Given the description of an element on the screen output the (x, y) to click on. 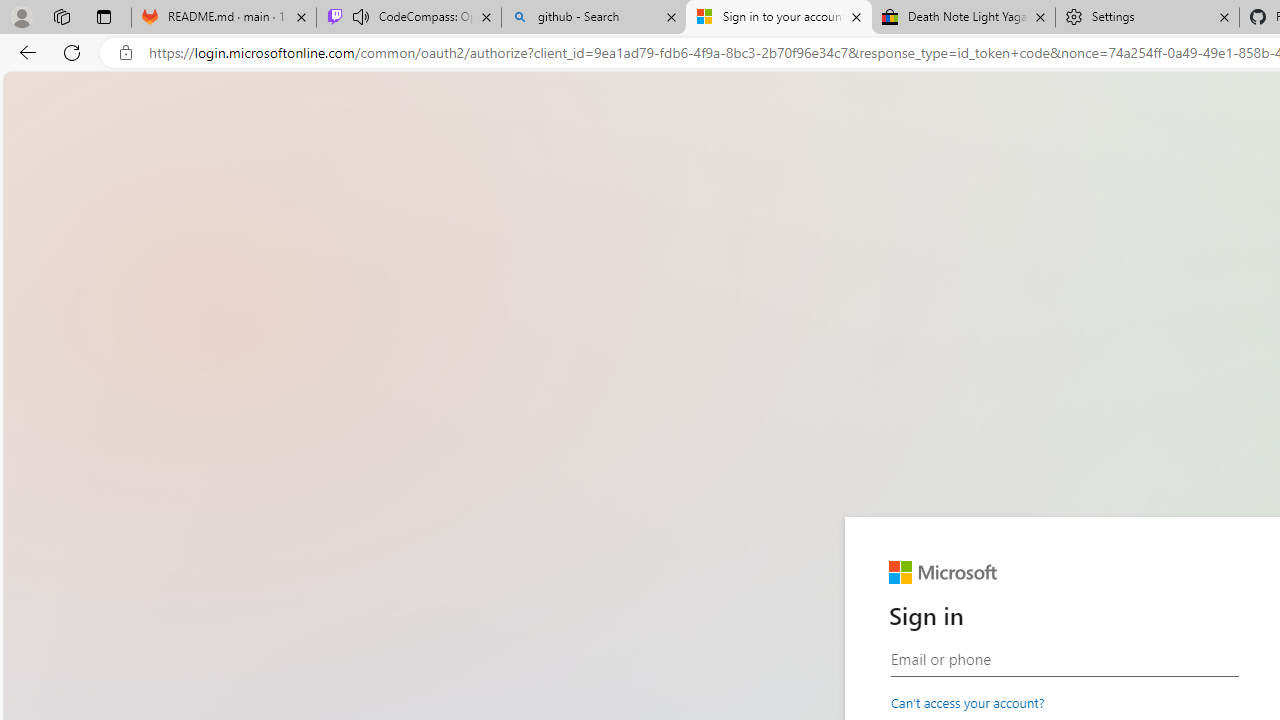
Sign in to your account (779, 17)
Enter your email or phone (1064, 659)
Mute tab (360, 16)
github - Search (593, 17)
